Given the description of an element on the screen output the (x, y) to click on. 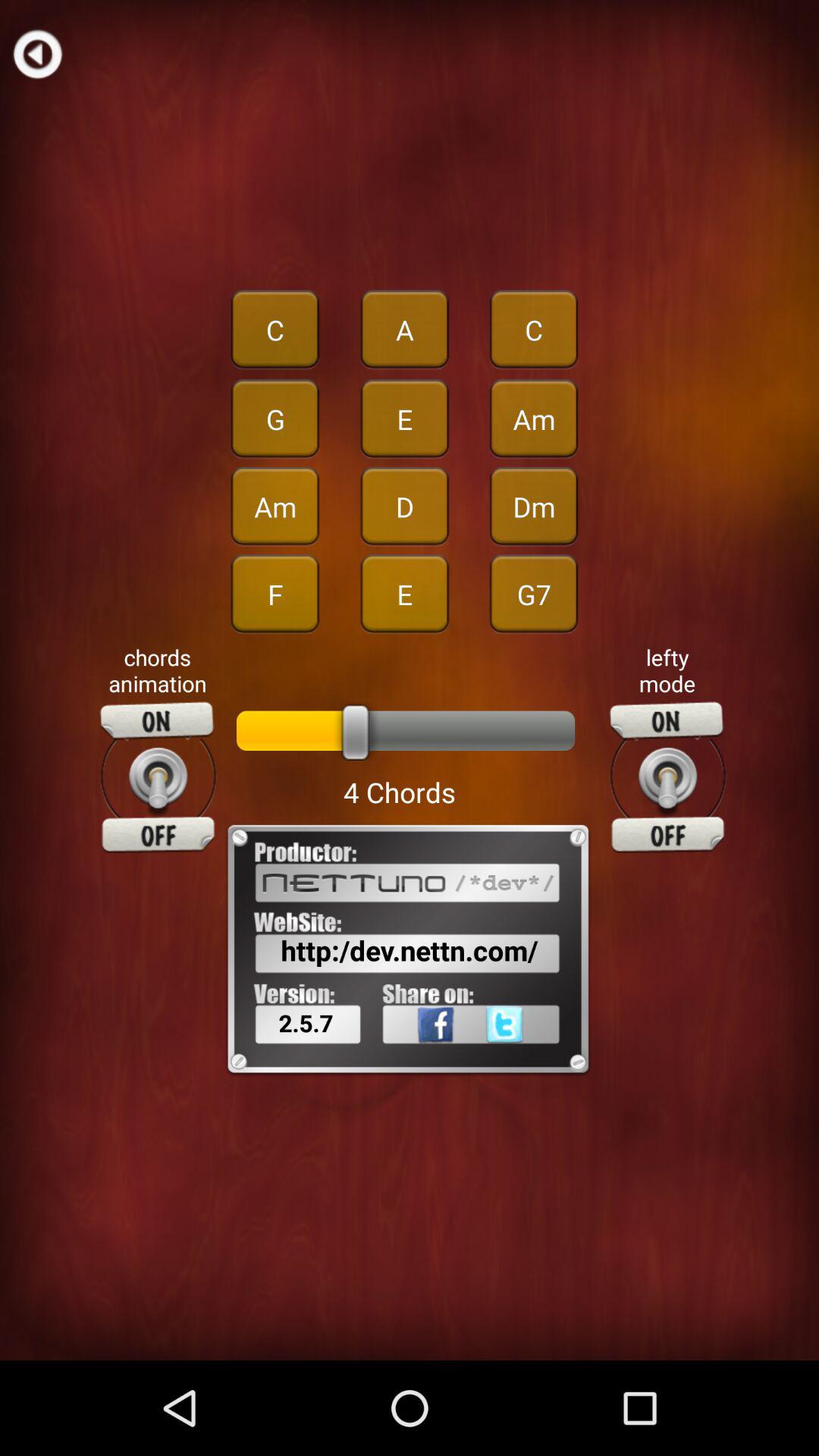
click item above http dev nettn item (157, 777)
